Given the description of an element on the screen output the (x, y) to click on. 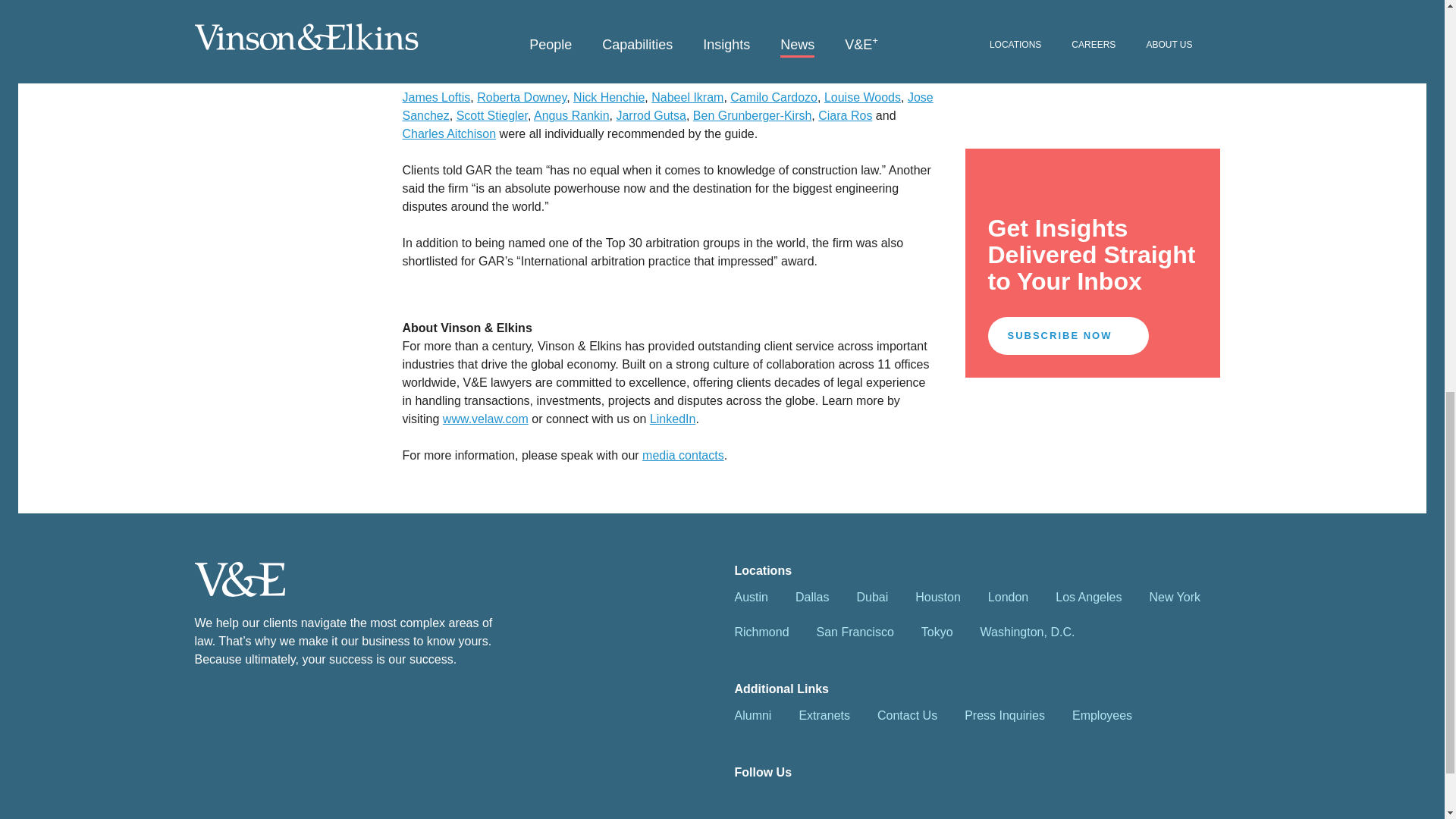
Louise Woods (862, 97)
Jose Sanchez (667, 106)
Nick Henchie (609, 97)
Camilo Cardozo (773, 97)
Nabeel Ikram (686, 97)
Jarrod Gutsa (650, 115)
James Loftis (435, 97)
Roberta Downey (521, 97)
media contacts (682, 454)
Angus Rankin (572, 115)
